Given the description of an element on the screen output the (x, y) to click on. 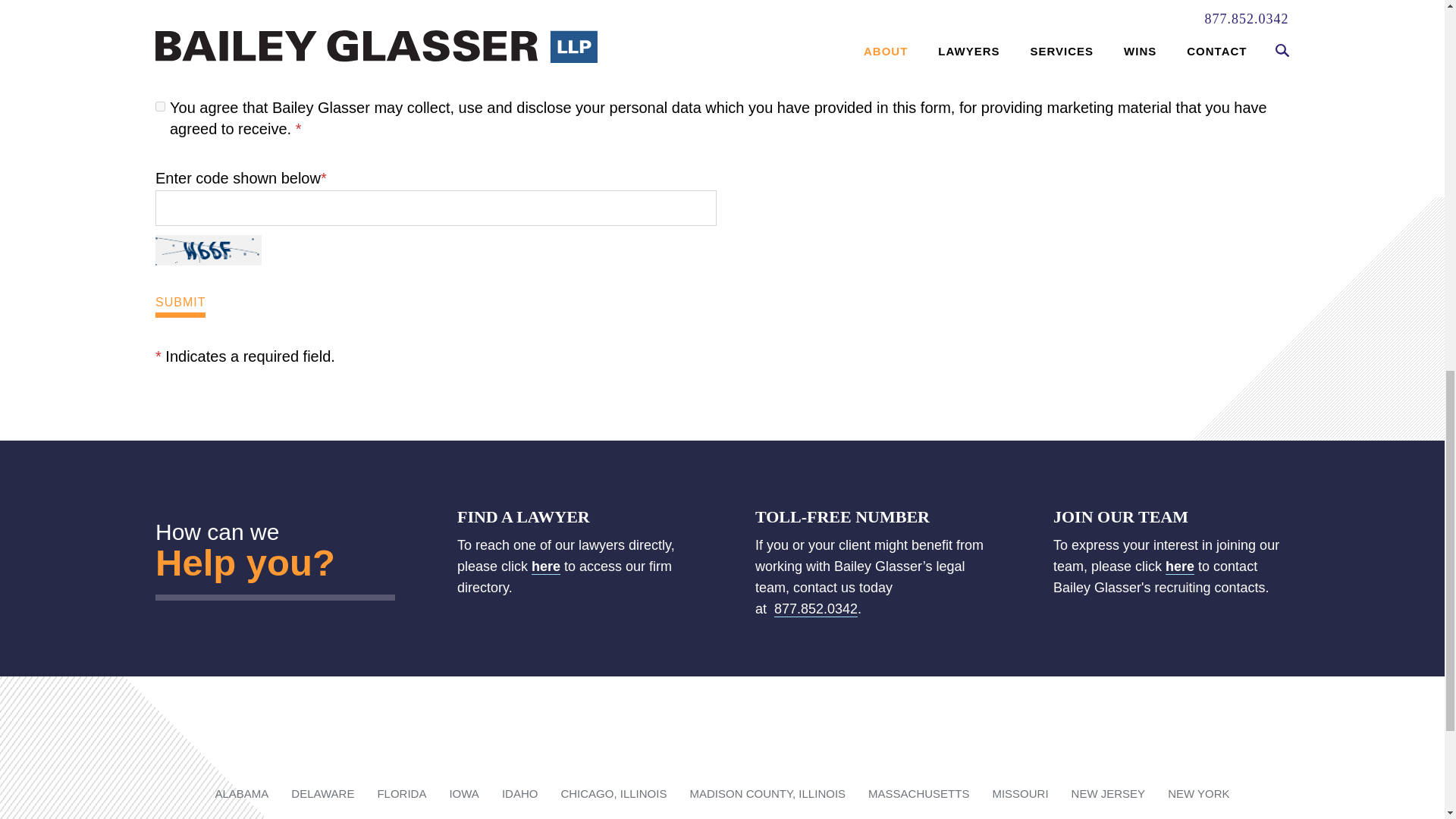
Contact Us (234, 561)
Submit (180, 304)
1 (163, 22)
Lawyer Directory (545, 566)
0 (160, 106)
Recruiting Contact (1179, 566)
2 (163, 49)
